Given the description of an element on the screen output the (x, y) to click on. 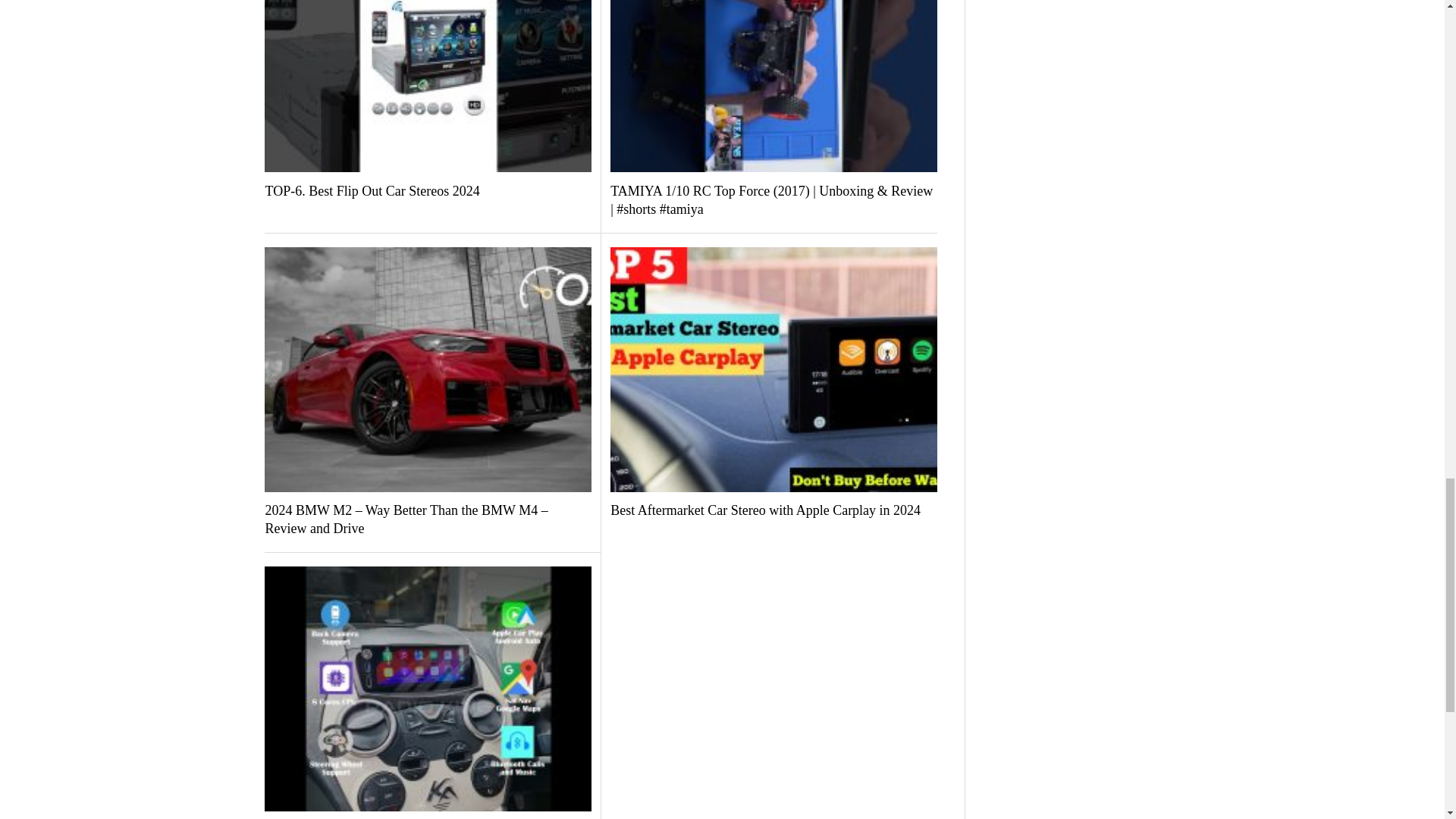
Best Aftermarket Car Stereo with Apple Carplay in 2024 (773, 511)
TOP-6. Best Flip Out Car Stereos 2024 (427, 191)
